Given the description of an element on the screen output the (x, y) to click on. 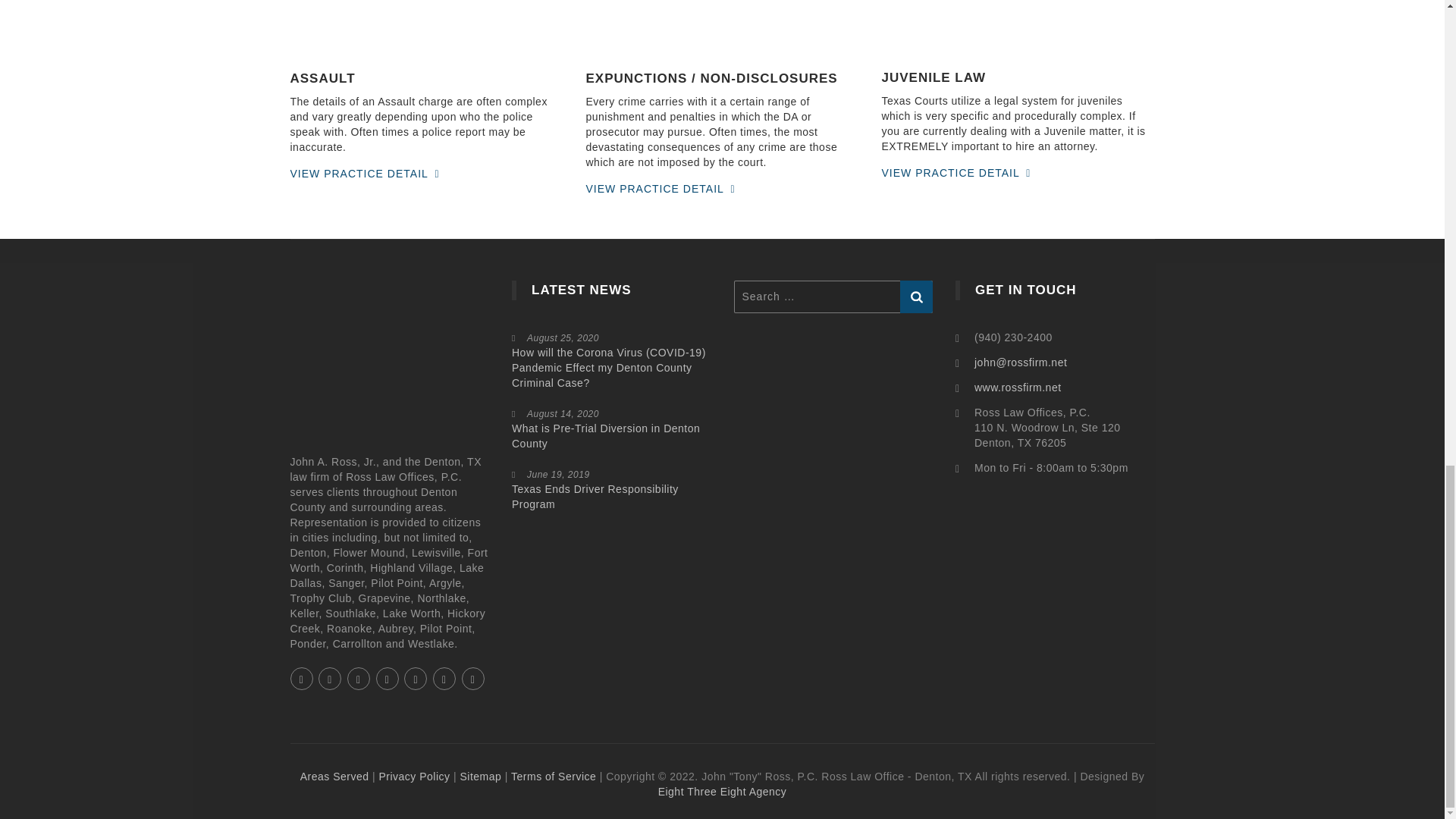
Search (916, 296)
Search (916, 296)
